Given the description of an element on the screen output the (x, y) to click on. 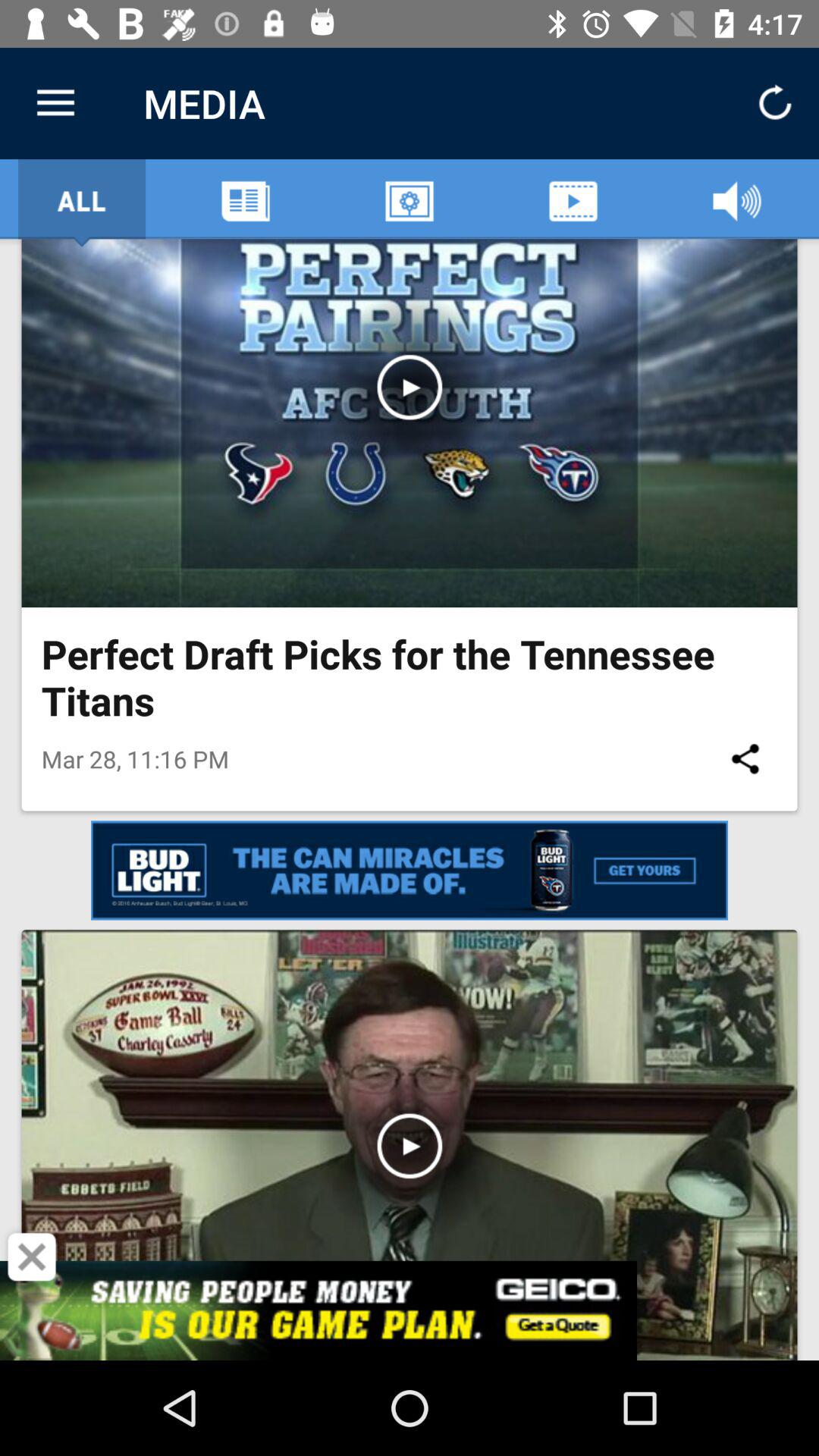
turn off icon at the bottom left corner (31, 1256)
